Given the description of an element on the screen output the (x, y) to click on. 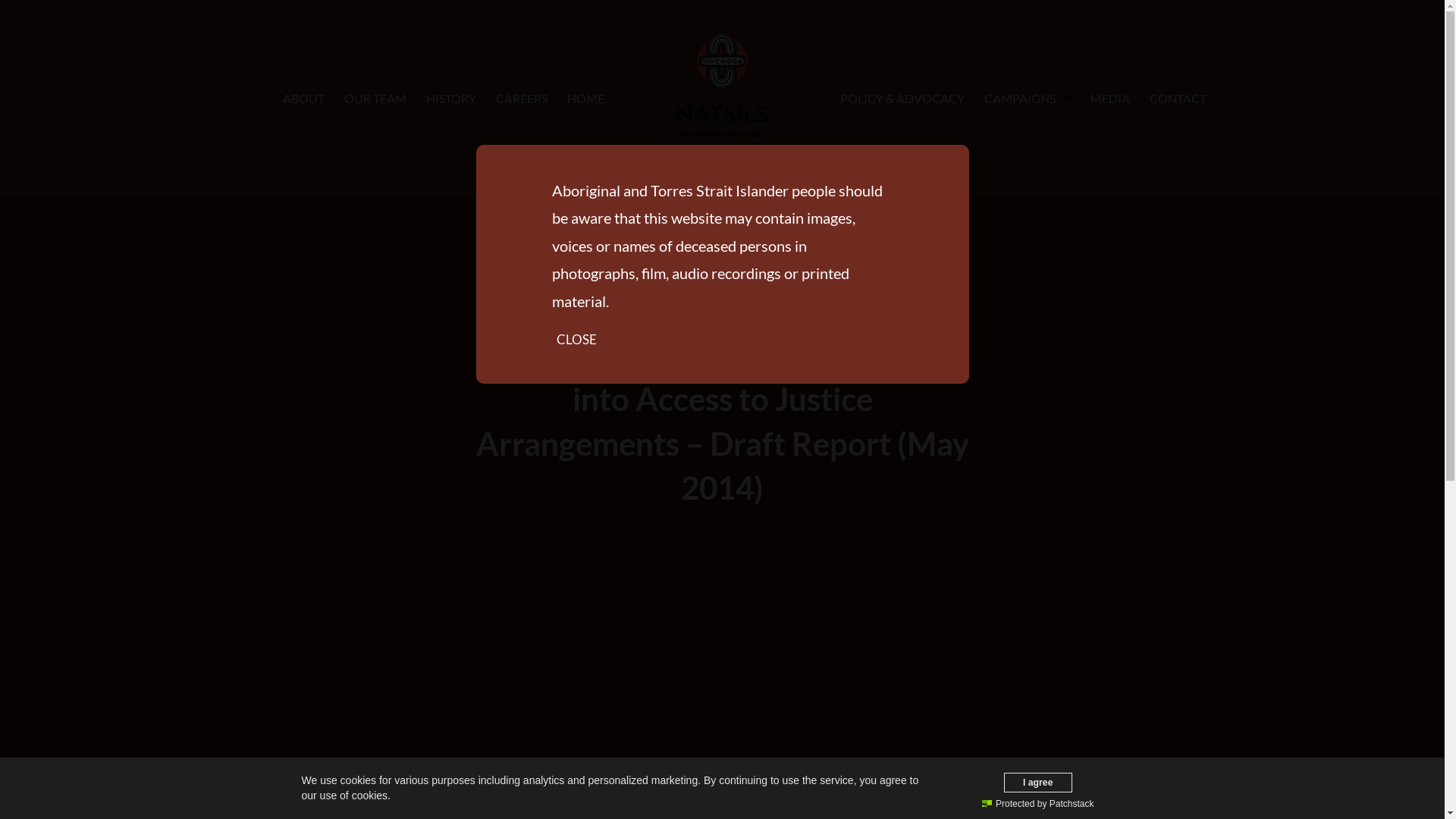
HOME Element type: text (585, 97)
CAMPAIGNS Element type: text (1027, 97)
CONTACT Element type: text (1177, 97)
OUR TEAM Element type: text (375, 97)
ABOUT Element type: text (303, 97)
HISTORY Element type: text (451, 97)
Protected by Patchstack Element type: text (1037, 803)
Back to Top Element type: hover (1423, 797)
MEDIA Element type: text (1109, 97)
CLOSE Element type: text (576, 339)
CAREERS Element type: text (521, 97)
I agree Element type: text (1038, 781)
POLICY & ADVOCACY Element type: text (902, 97)
